Given the description of an element on the screen output the (x, y) to click on. 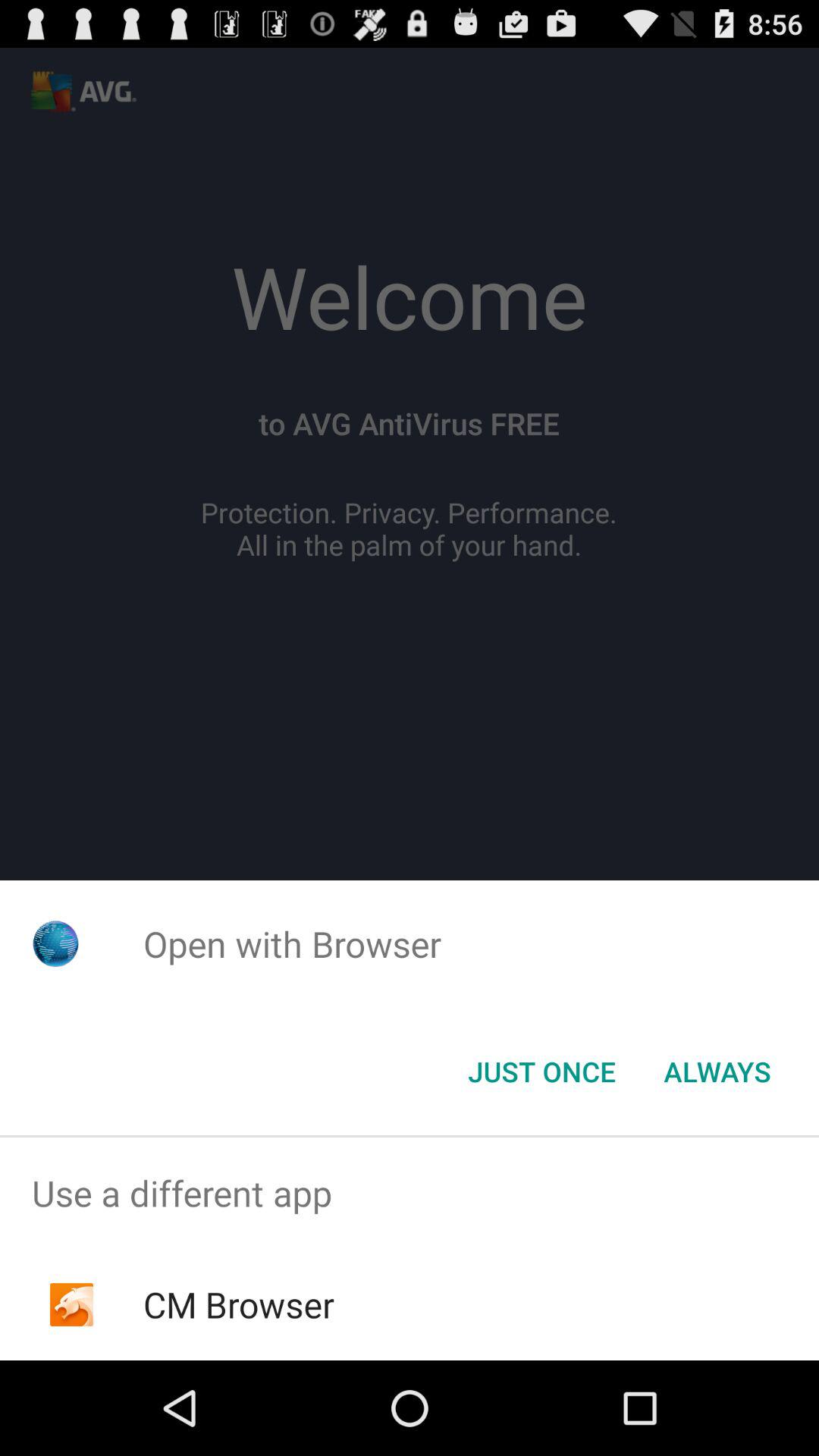
swipe until the cm browser item (238, 1304)
